Given the description of an element on the screen output the (x, y) to click on. 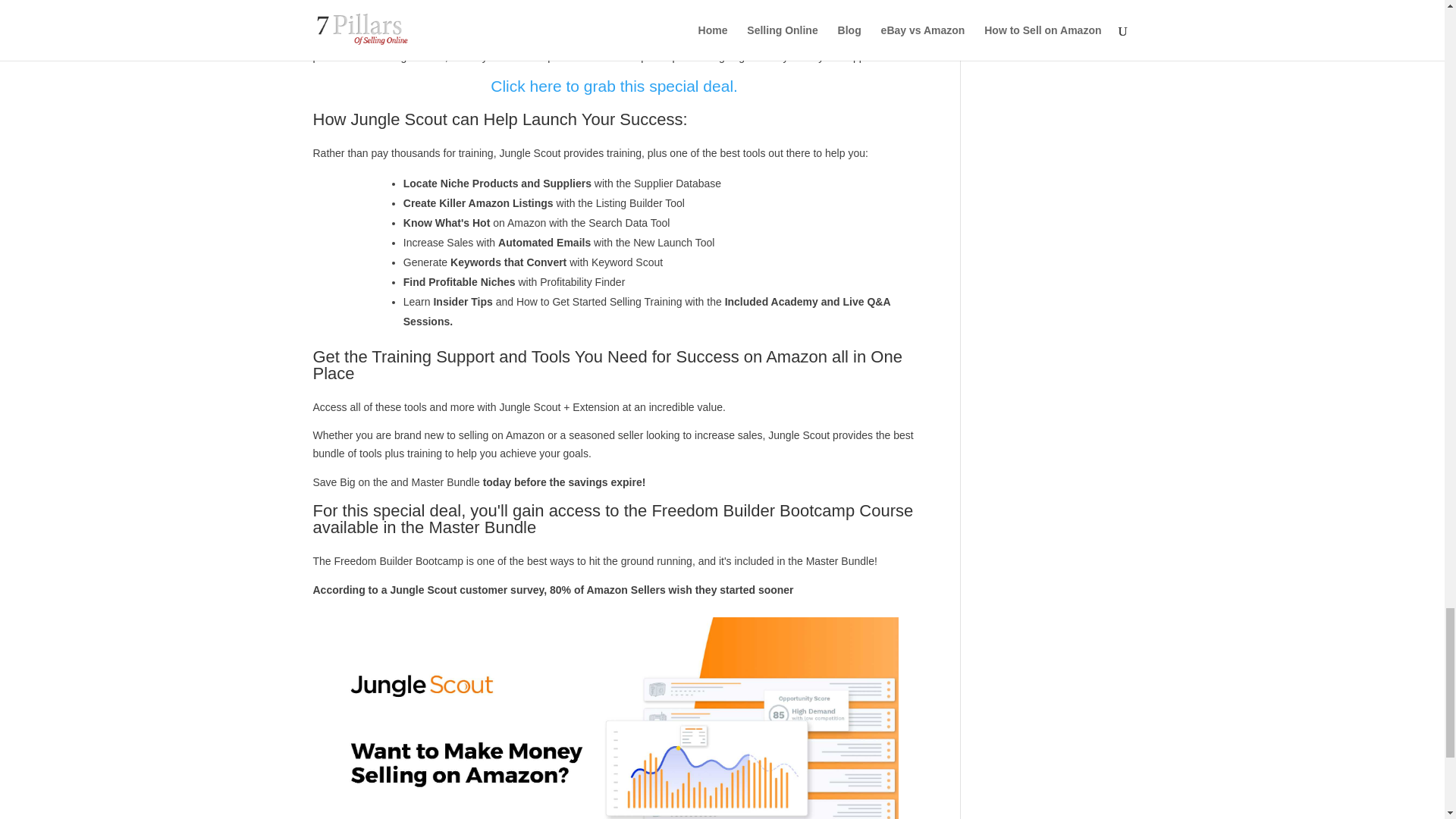
Click here to grab this special deal. (614, 85)
